Given the description of an element on the screen output the (x, y) to click on. 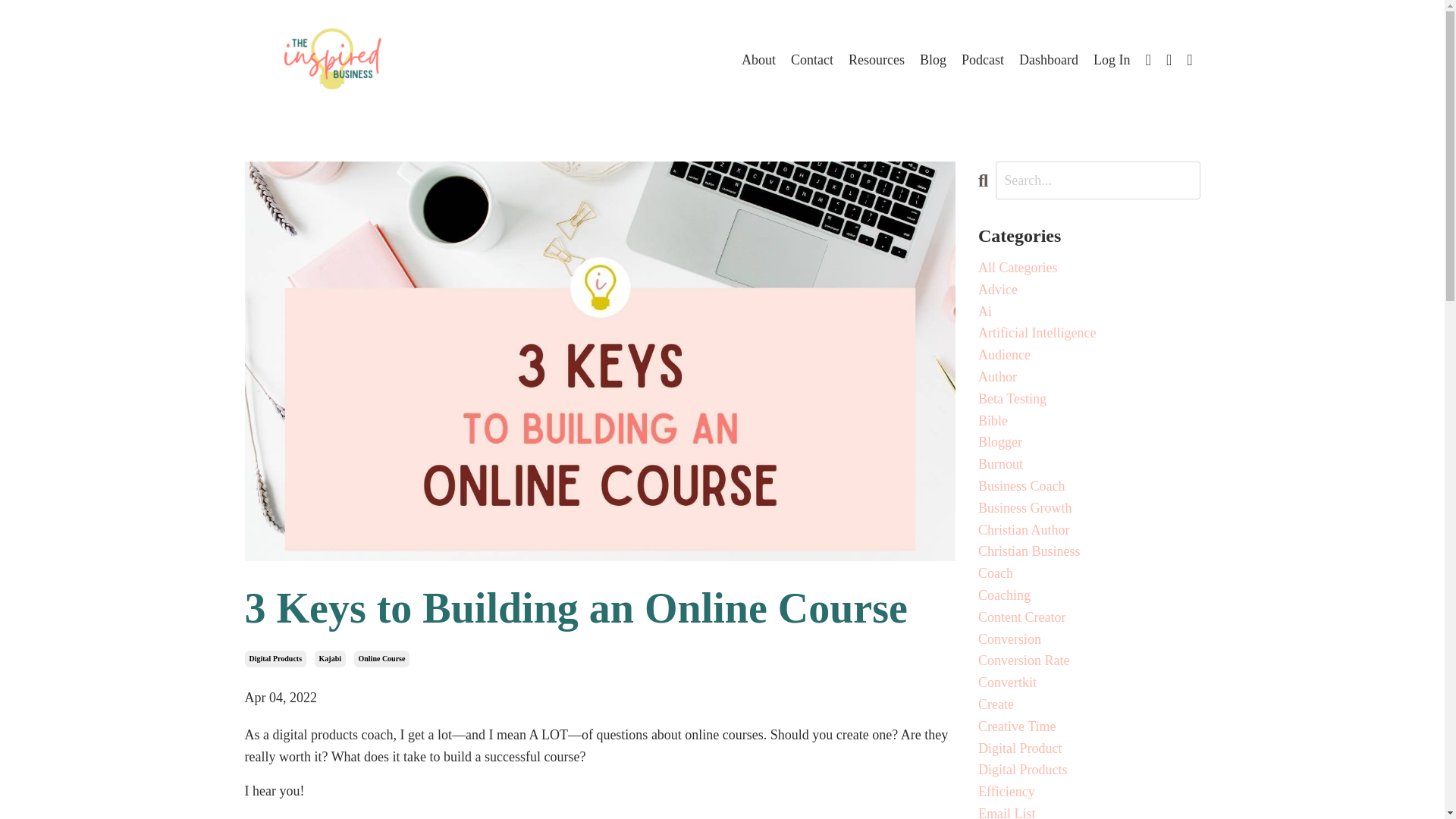
Conversion Rate (1088, 660)
Christian Business (1088, 551)
Christian Author (1088, 530)
Business Coach (1088, 486)
Blog (933, 60)
Advice (1088, 290)
Convertkit (1088, 682)
Online Course (381, 658)
Coaching (1088, 595)
Artificial Intelligence (1088, 332)
